Given the description of an element on the screen output the (x, y) to click on. 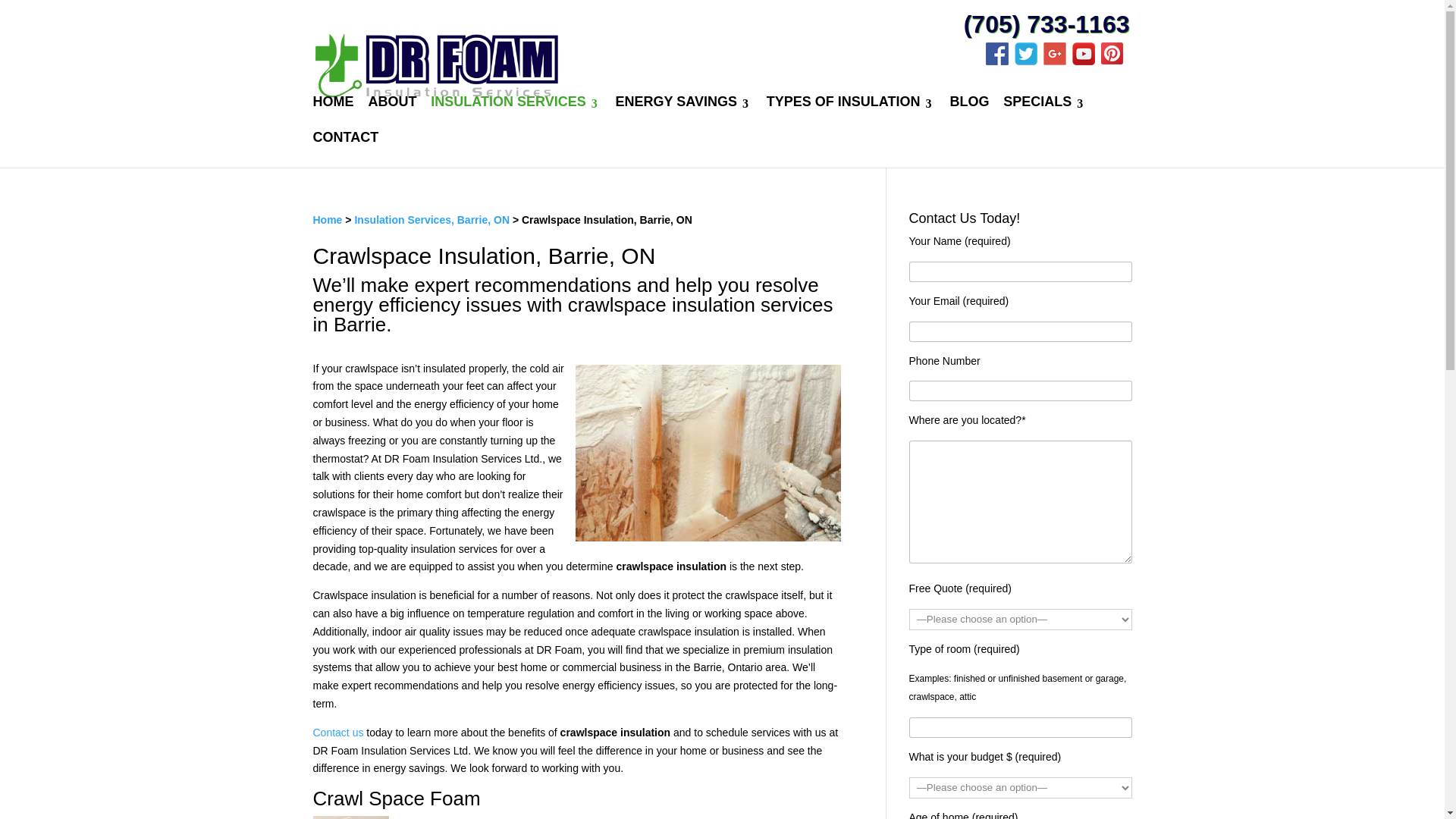
ENERGY SAVINGS (683, 113)
BLOG (968, 113)
HOME (333, 113)
CONTACT (345, 149)
SPECIALS (1044, 113)
Subscribe to DR Foam Insulation Services Ltd. on YouTube (1085, 61)
ABOUT (392, 113)
Follow DR Foam Insulation Services Ltd. on Twitter (1028, 61)
DR Foam Insulation Services Ltd. on Pinterest (1114, 61)
Go to DR Foam Insulation Services Ltd.. (327, 219)
Like DR Foam Insulation Services Ltd. on Facebook (999, 61)
Crawl Space Foam, Barrie, ON (350, 817)
INSULATION SERVICES (514, 113)
TYPES OF INSULATION (851, 113)
Go to Insulation Services, Barrie, ON. (431, 219)
